Given the description of an element on the screen output the (x, y) to click on. 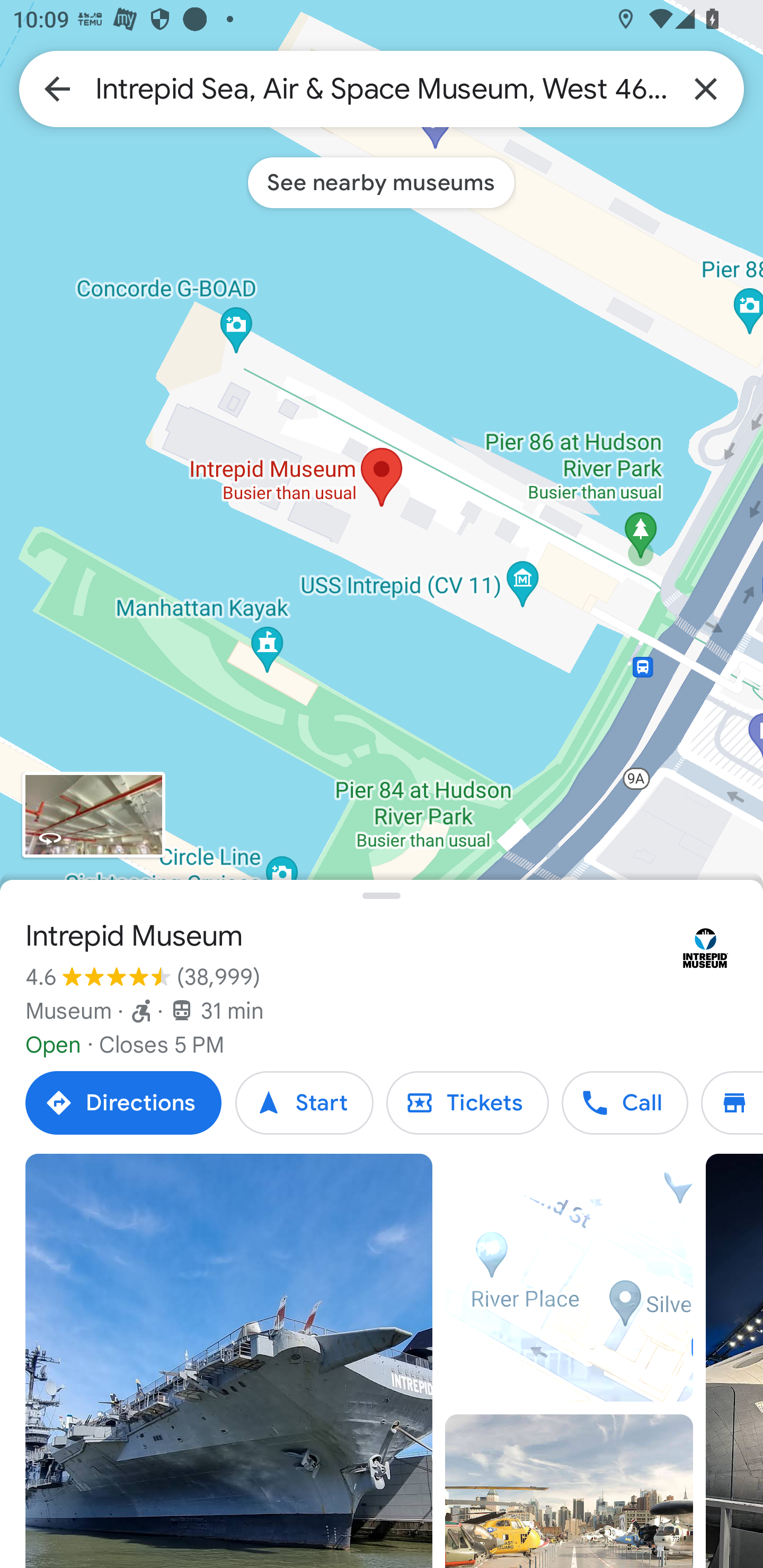
Back (57, 88)
Clear (705, 88)
See nearby museums (380, 182)
View Street view imagery for Intrepid Museum (93, 814)
Start Start Start (304, 1102)
Tickets (467, 1102)
Directory Directory Directory (732, 1102)
Photo (228, 1361)
Video (568, 1277)
Photo (568, 1491)
